Given the description of an element on the screen output the (x, y) to click on. 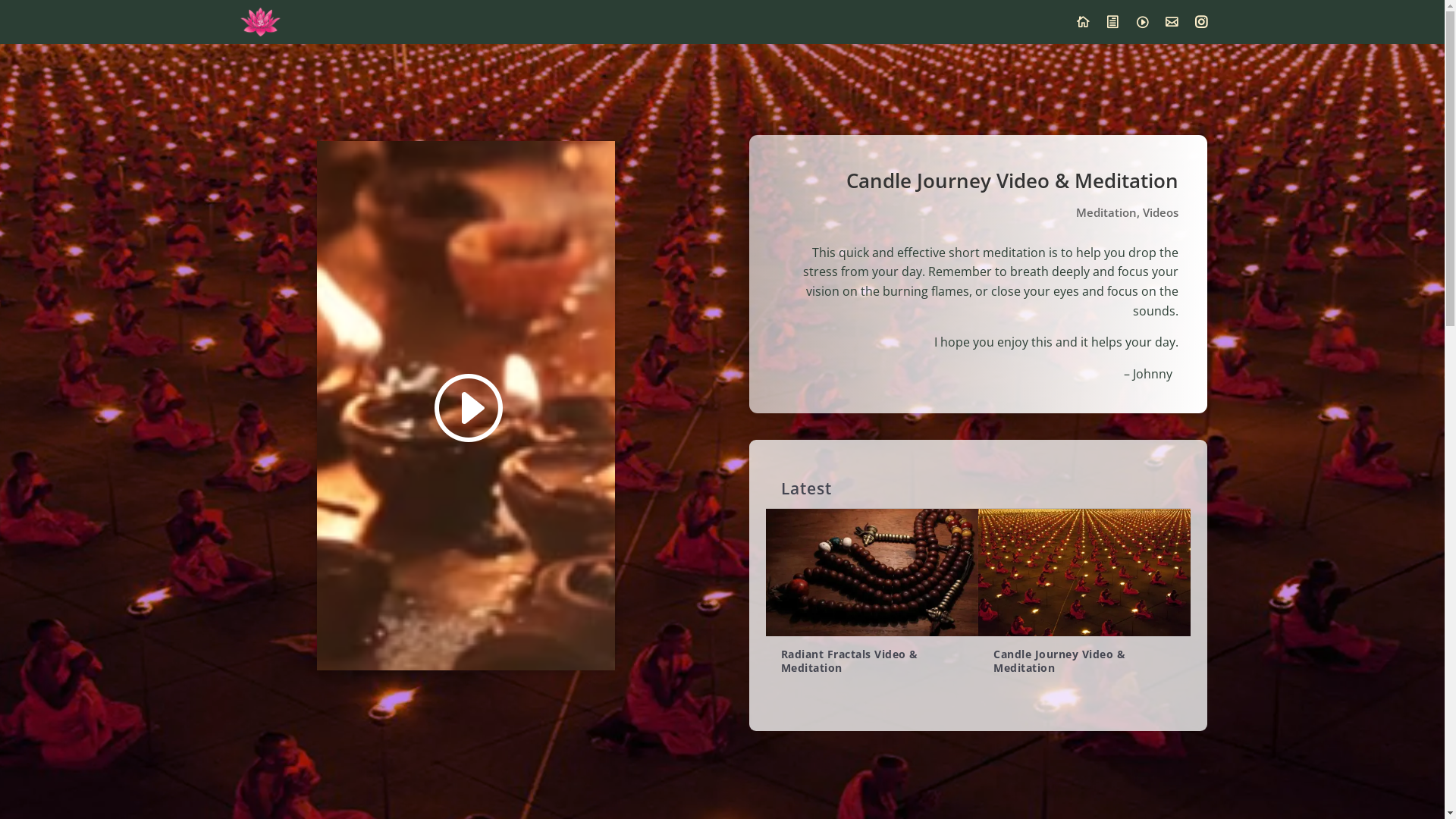
Meditation Element type: text (1106, 211)
Radiant Fractals Video & Meditation Element type: text (849, 660)
Candles Element type: hover (465, 405)
Candle Journey Video & Meditation Element type: hover (1084, 572)
I Element type: text (1141, 29)
Videos Element type: text (1160, 211)
h Element type: text (1111, 29)
Candle Journey Video & Meditation Element type: text (1059, 660)
Radiant Fractals Video & Meditation Element type: hover (871, 572)
